Given the description of an element on the screen output the (x, y) to click on. 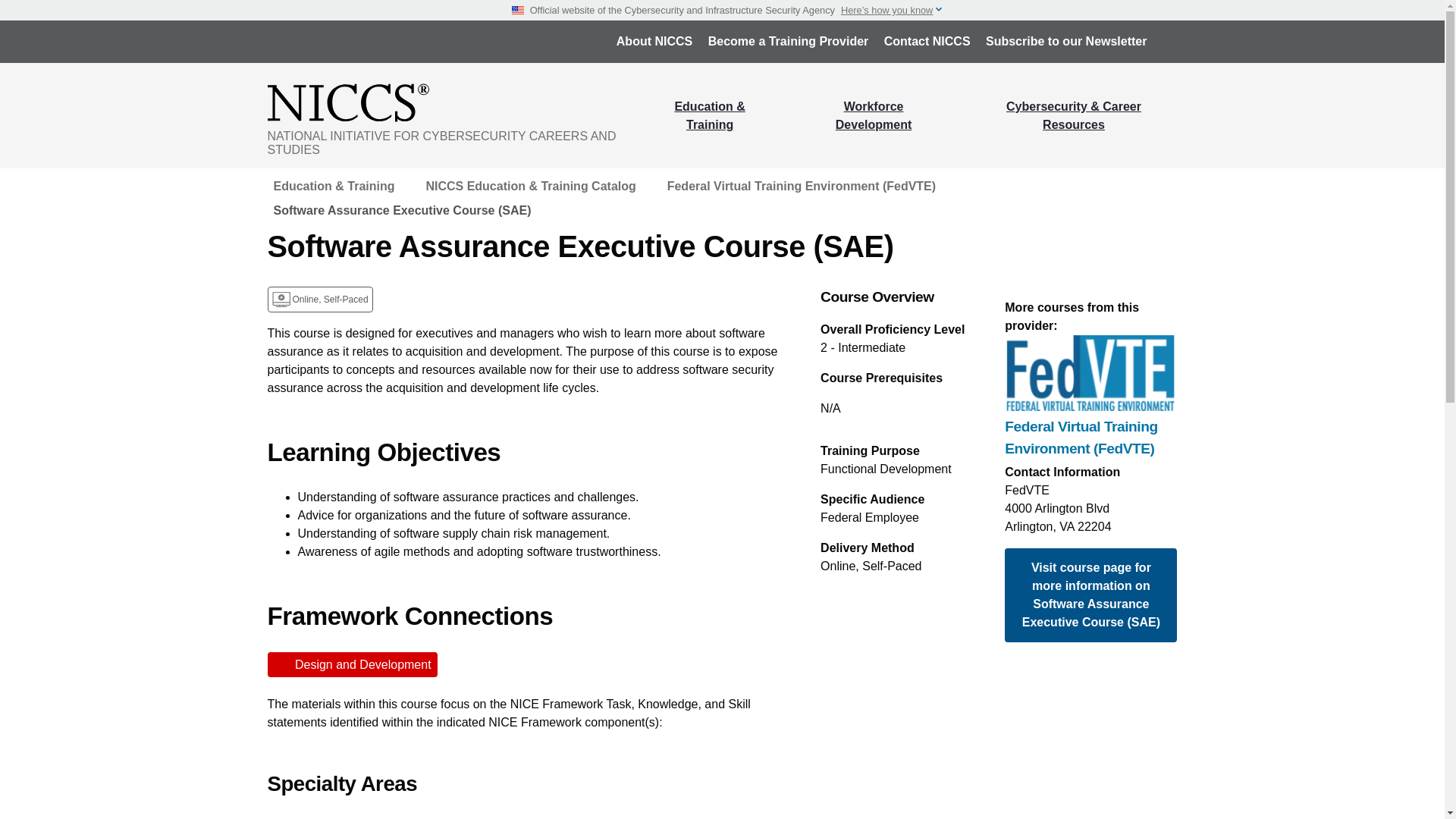
About NICCS (654, 41)
Become a Training Provider (788, 41)
Design and Development (351, 664)
Become a Training Provider (788, 41)
About NICCS (654, 41)
Subscribe to our Newsletter (1066, 41)
Workforce Development (873, 115)
National Initiative for Cybersecurity Careers and Studies (454, 102)
Contact NICCS (926, 41)
